Given the description of an element on the screen output the (x, y) to click on. 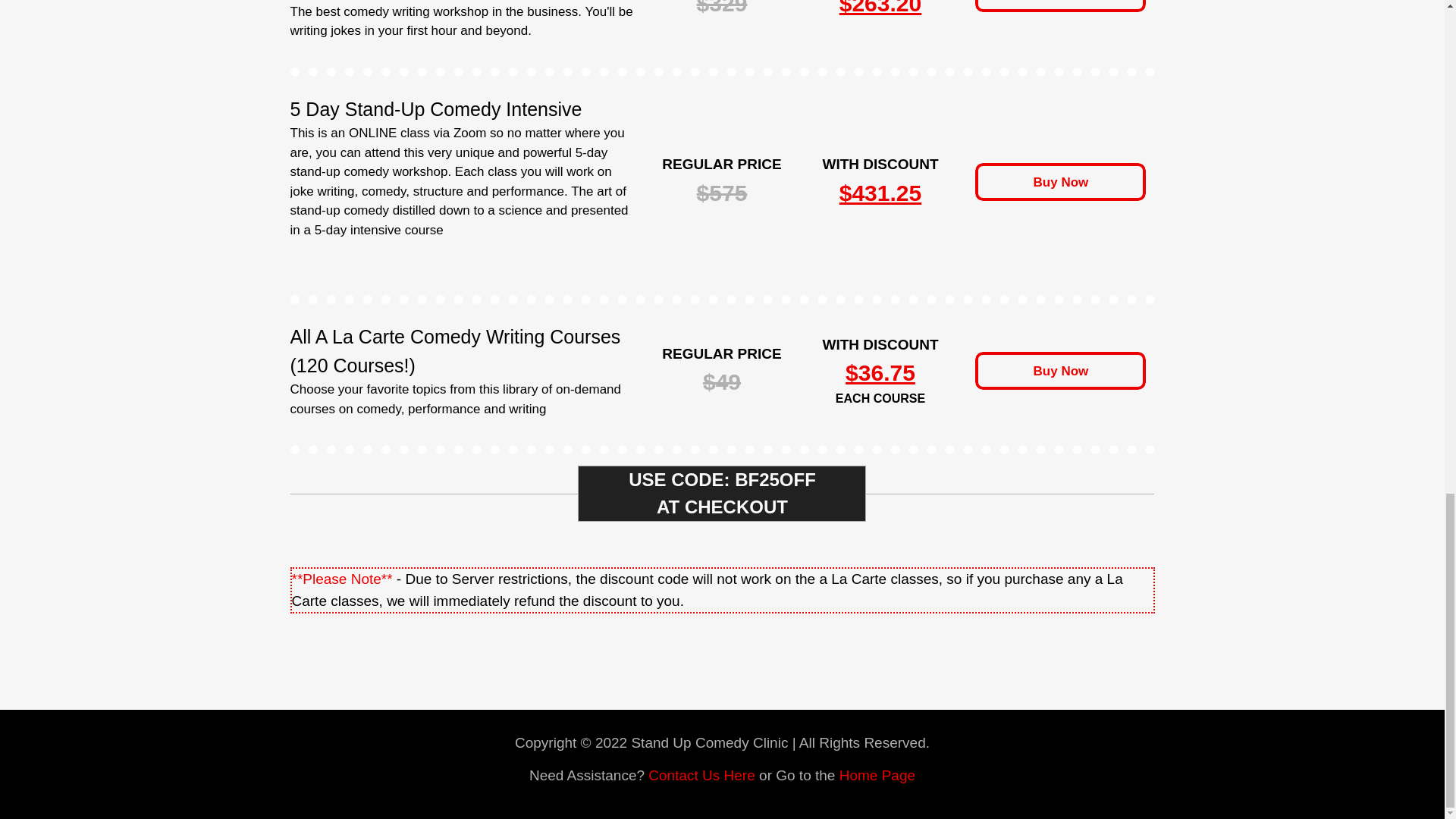
Buy Now (1060, 181)
Buy Now (1060, 370)
Home Page (877, 774)
Contact Us Here (700, 774)
Buy Now (1060, 6)
